Given the description of an element on the screen output the (x, y) to click on. 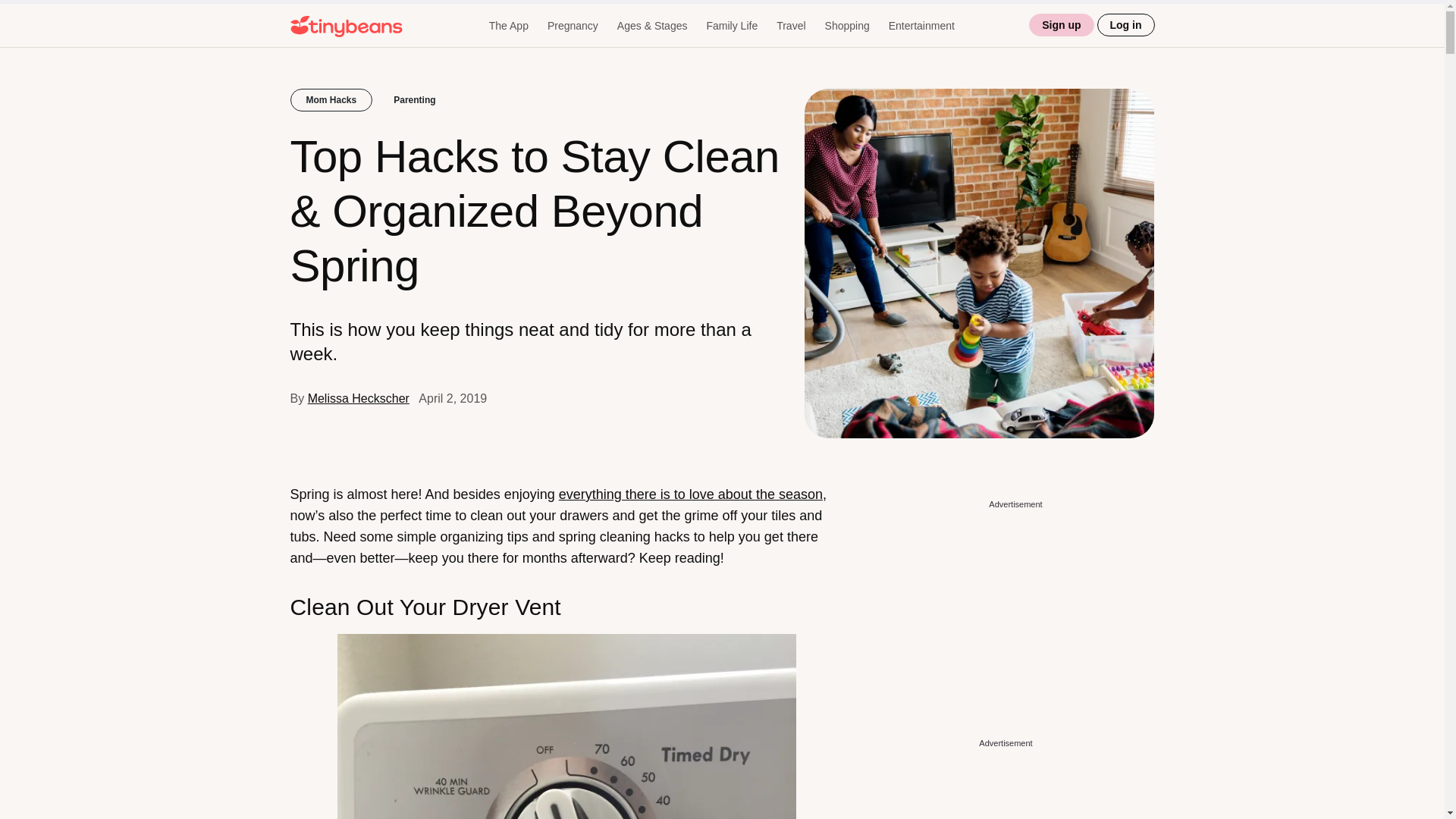
The App (508, 25)
Pregnancy (572, 25)
Family Life (731, 25)
Posts by Melissa Heckscher (358, 398)
